Given the description of an element on the screen output the (x, y) to click on. 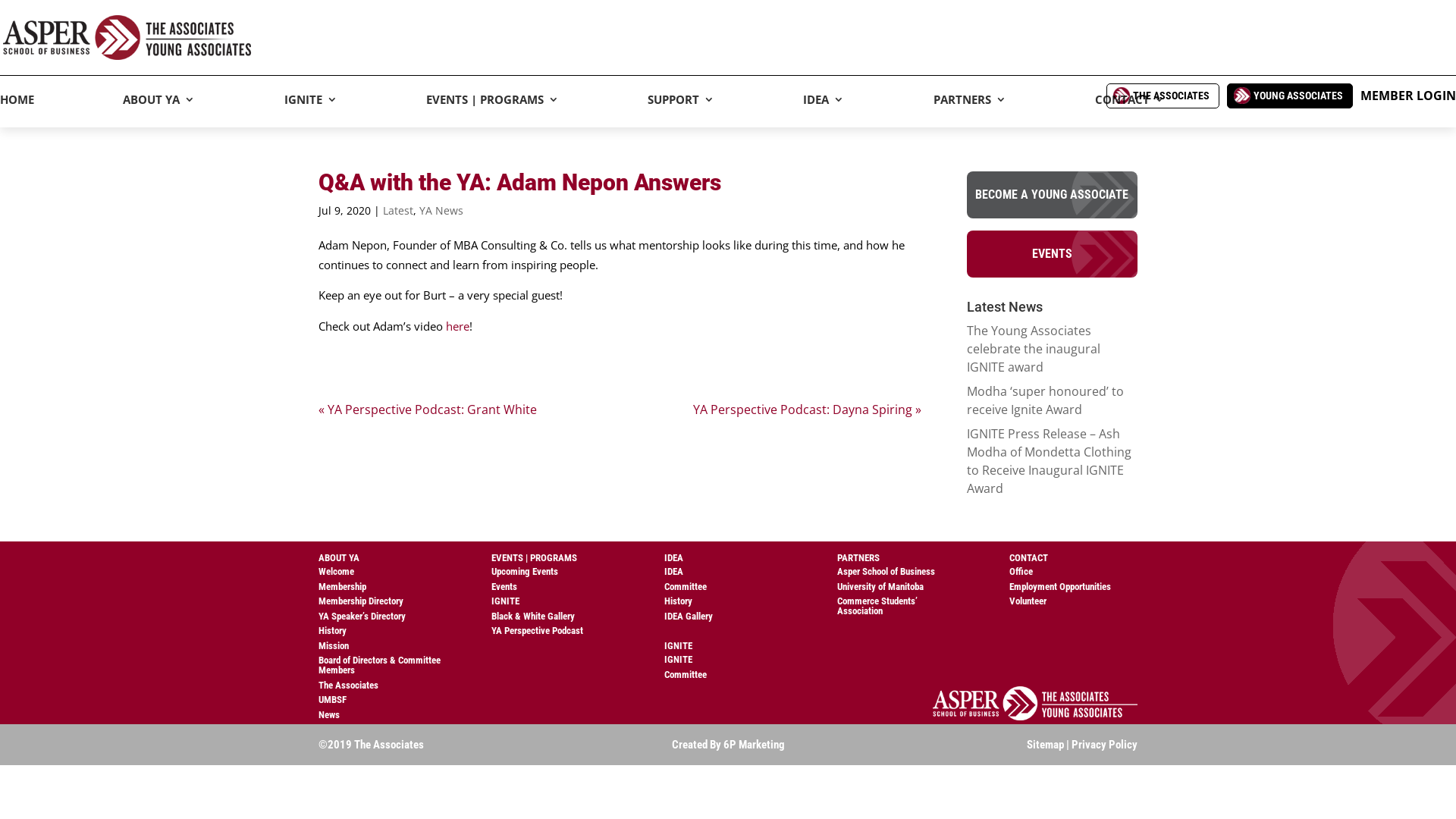
EVENTS Element type: text (1051, 253)
Welcome Element type: text (336, 571)
IGNITE Element type: text (310, 110)
Mission Element type: text (333, 645)
Office Element type: text (1020, 571)
Sitemap Element type: text (1044, 744)
SUPPORT Element type: text (680, 110)
IGNITE Element type: text (505, 600)
History Element type: text (332, 630)
Membership Element type: text (342, 586)
Upcoming Events Element type: text (524, 571)
IGNITE Element type: text (678, 659)
Privacy Policy Element type: text (1104, 744)
UMBSF Element type: text (332, 699)
YOUNG ASSOCIATES Element type: text (1289, 95)
Latest Element type: text (397, 210)
Committee Element type: text (685, 586)
Created By 6P Marketing Element type: text (727, 744)
YA News Element type: text (441, 210)
The Young Associates celebrate the inaugural IGNITE award Element type: text (1033, 348)
IDEA Gallery Element type: text (688, 615)
IDEA Element type: text (673, 571)
ABOUT YA Element type: text (158, 110)
The Associates Element type: text (348, 684)
BECOME A YOUNG ASSOCIATE Element type: text (1051, 194)
News Element type: text (328, 713)
PARTNERS Element type: text (969, 110)
Committee Element type: text (685, 674)
Board of Directors & Committee Members Element type: text (379, 664)
Membership Directory Element type: text (360, 600)
Asper School of Business Element type: text (886, 571)
here Element type: text (457, 325)
University of Manitoba Element type: text (880, 586)
History Element type: text (678, 600)
Employment Opportunities Element type: text (1059, 586)
YA Perspective Podcast Element type: text (537, 630)
Volunteer Element type: text (1027, 600)
Black & White Gallery Element type: text (532, 615)
IDEA Element type: text (823, 110)
THE ASSOCIATES Element type: text (1162, 95)
CONTACT Element type: text (1129, 110)
EVENTS | PROGRAMS Element type: text (492, 110)
Events Element type: text (504, 586)
HOME Element type: text (17, 110)
